Given the description of an element on the screen output the (x, y) to click on. 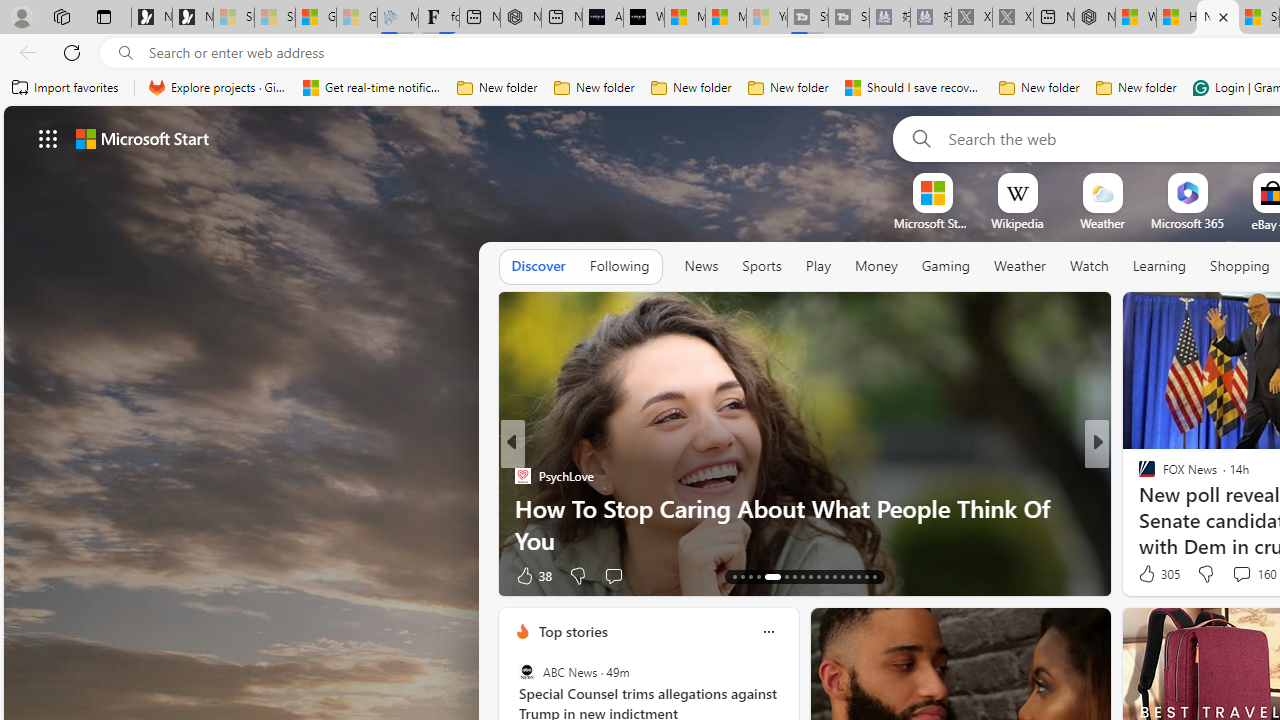
View comments 6 Comment (1241, 574)
AutomationID: tab-18 (782, 576)
AutomationID: tab-24 (833, 576)
AutomationID: tab-21 (810, 576)
AutomationID: tab-19 (793, 576)
305 Like (1157, 574)
View comments 107 Comment (1247, 574)
View comments 6 Comment (1234, 575)
View comments 26 Comment (1229, 575)
